Given the description of an element on the screen output the (x, y) to click on. 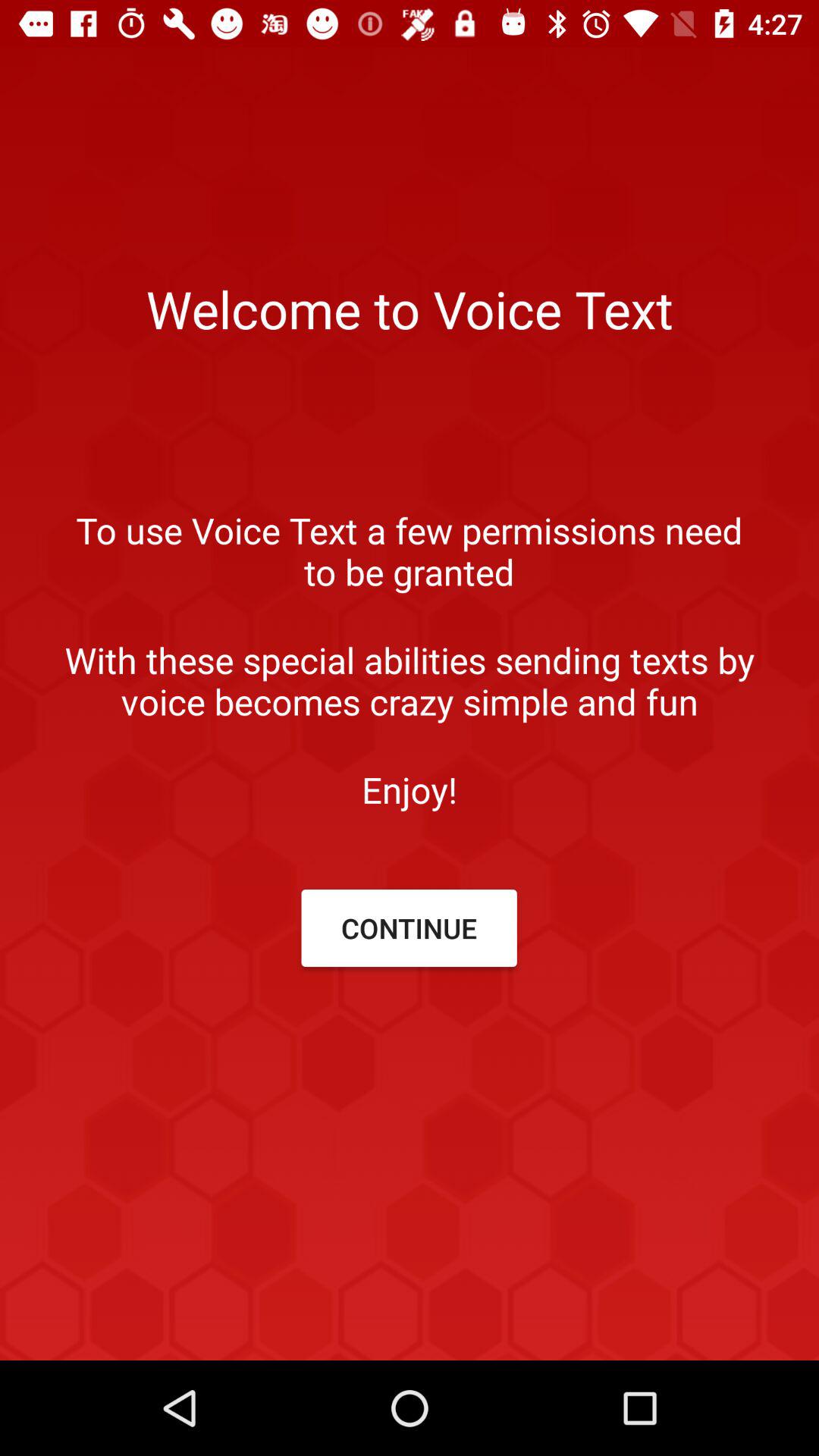
open continue icon (408, 927)
